Given the description of an element on the screen output the (x, y) to click on. 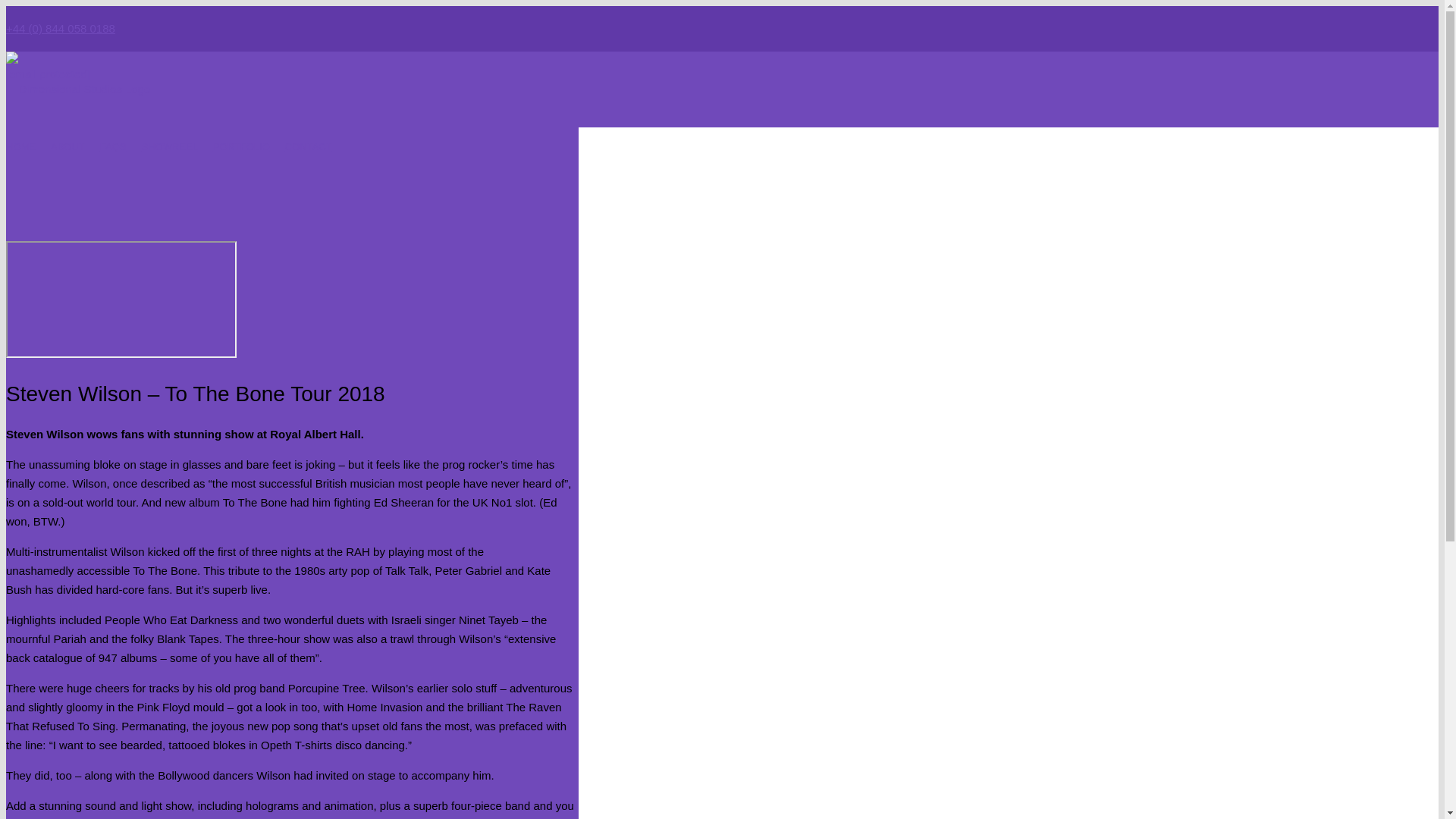
HOME (21, 146)
ABOUT (68, 146)
FAQS (113, 146)
SHOWREEL (169, 146)
PORTFOLIO (241, 146)
CONTACT (308, 146)
